Given the description of an element on the screen output the (x, y) to click on. 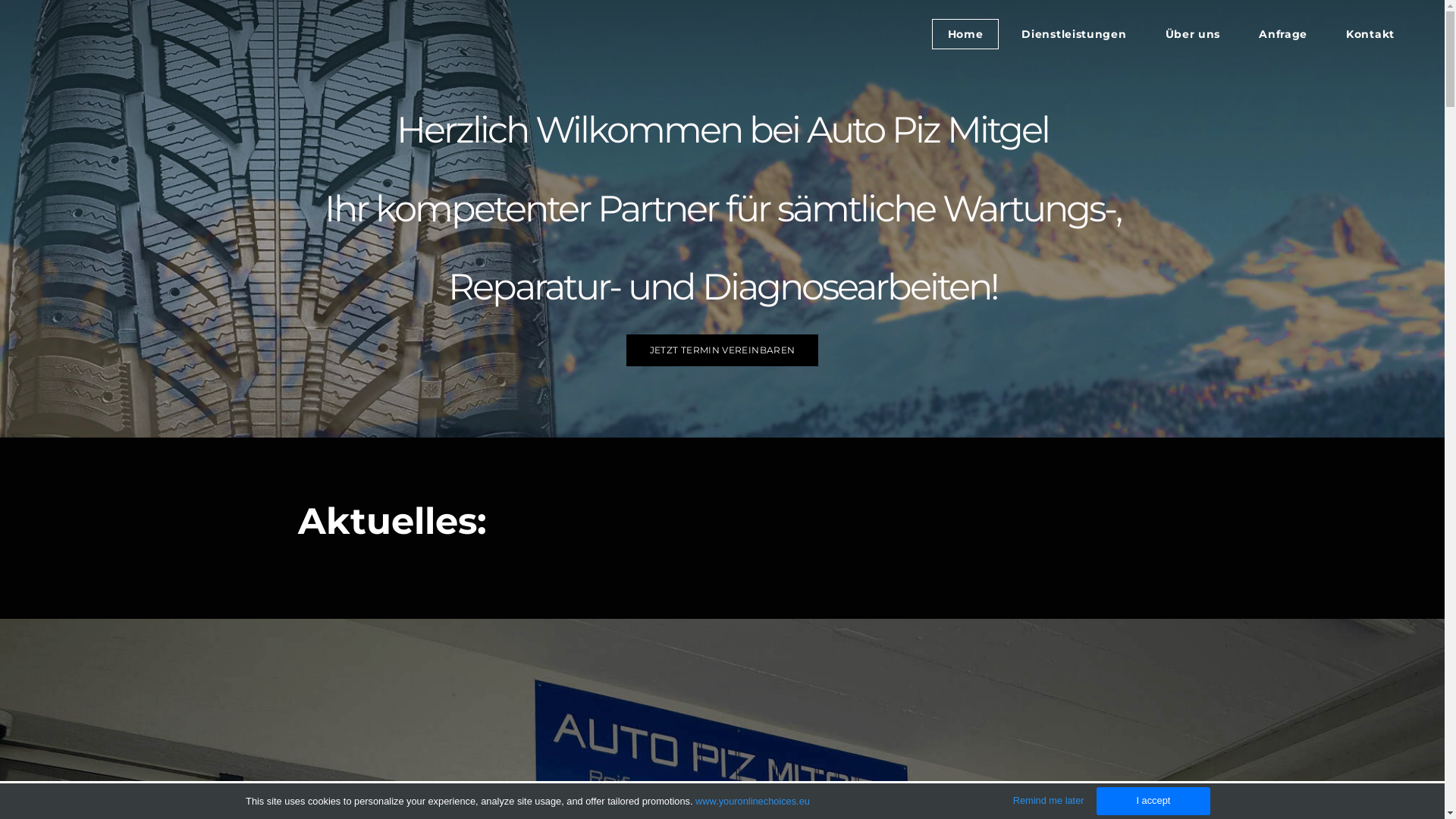
Home Element type: text (965, 33)
JETZT TERMIN VEREINBAREN Element type: text (722, 349)
Dienstleistungen Element type: text (1073, 33)
Anfrage Element type: text (1282, 33)
www.youronlinechoices.eu Element type: text (752, 800)
Kontakt Element type: text (1370, 33)
I accept Element type: text (1153, 801)
Remind me later Element type: text (1048, 800)
